Given the description of an element on the screen output the (x, y) to click on. 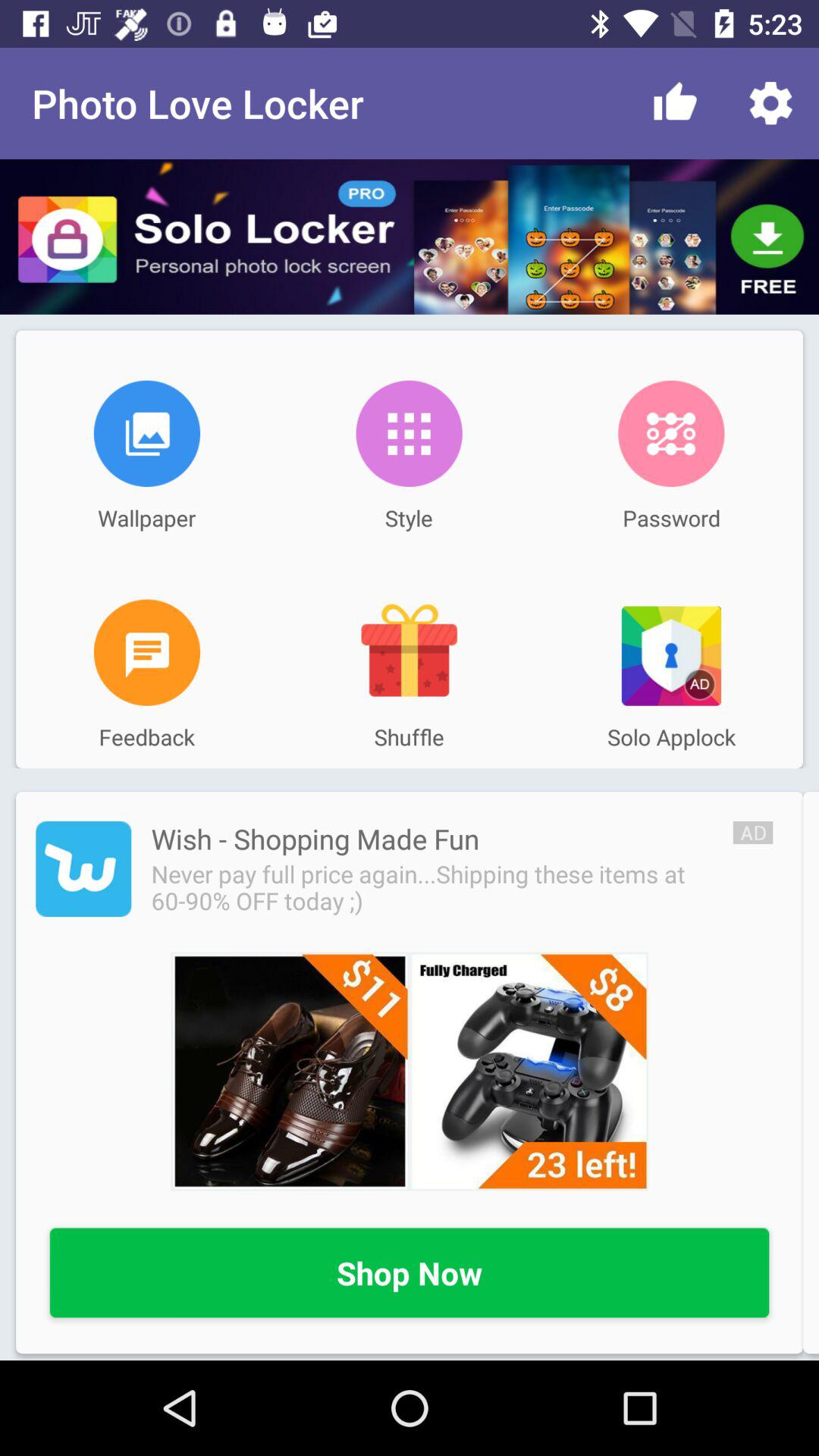
set photo for password screen (671, 433)
